Given the description of an element on the screen output the (x, y) to click on. 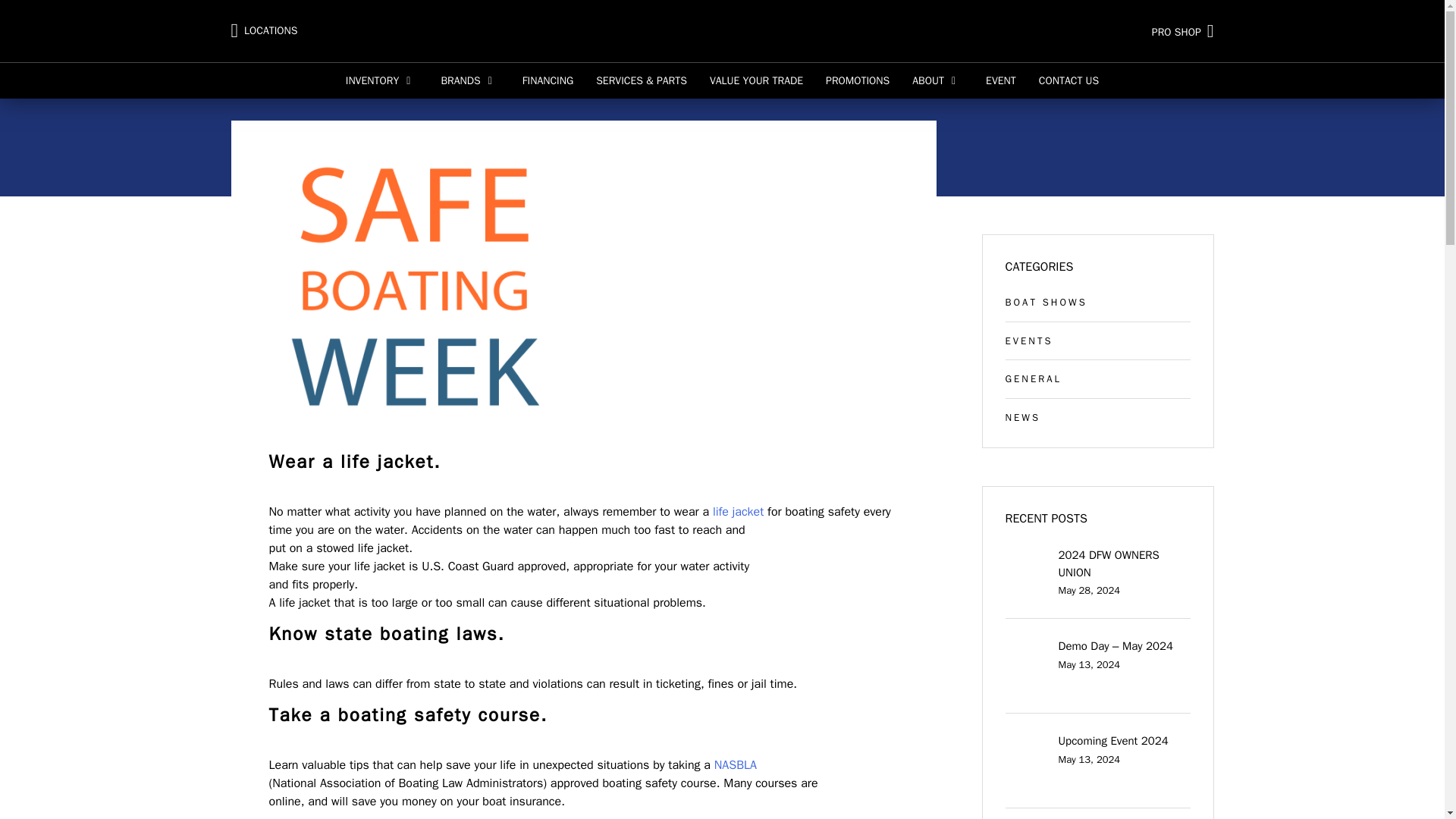
LOCATIONS (263, 30)
VALUE YOUR TRADE (755, 80)
FINANCING (548, 80)
PRO SHOP (1051, 31)
INVENTORY (381, 80)
BRANDS (470, 80)
